Given the description of an element on the screen output the (x, y) to click on. 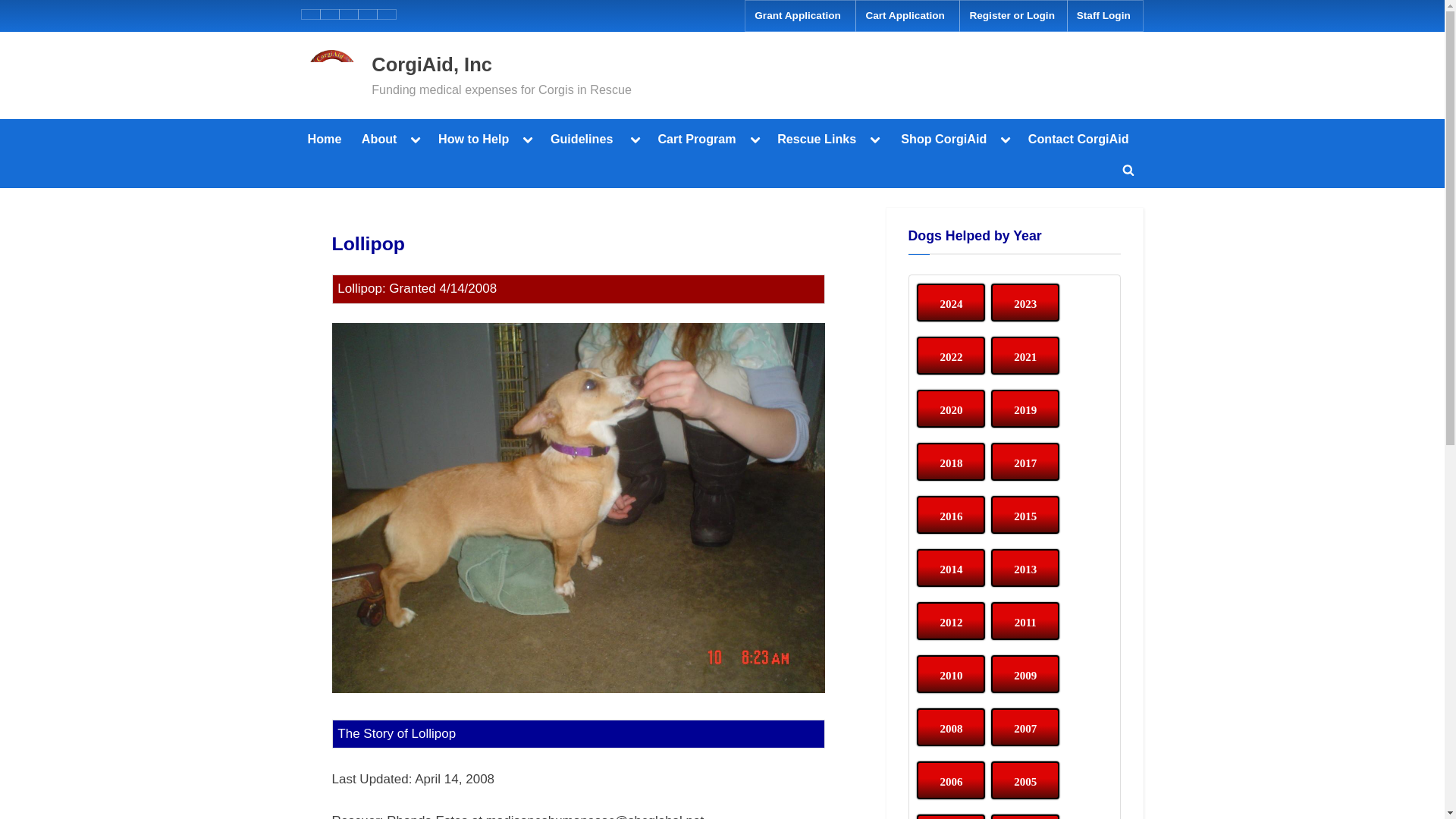
Guidelines  (583, 138)
Grant Application   (799, 15)
Register or Login  (1013, 15)
 About (377, 138)
Staff Login  (1105, 15)
Toggle sub-menu (416, 138)
Home (324, 138)
Cart Application   (907, 15)
Cart Program (695, 138)
Toggle sub-menu (527, 138)
